Given the description of an element on the screen output the (x, y) to click on. 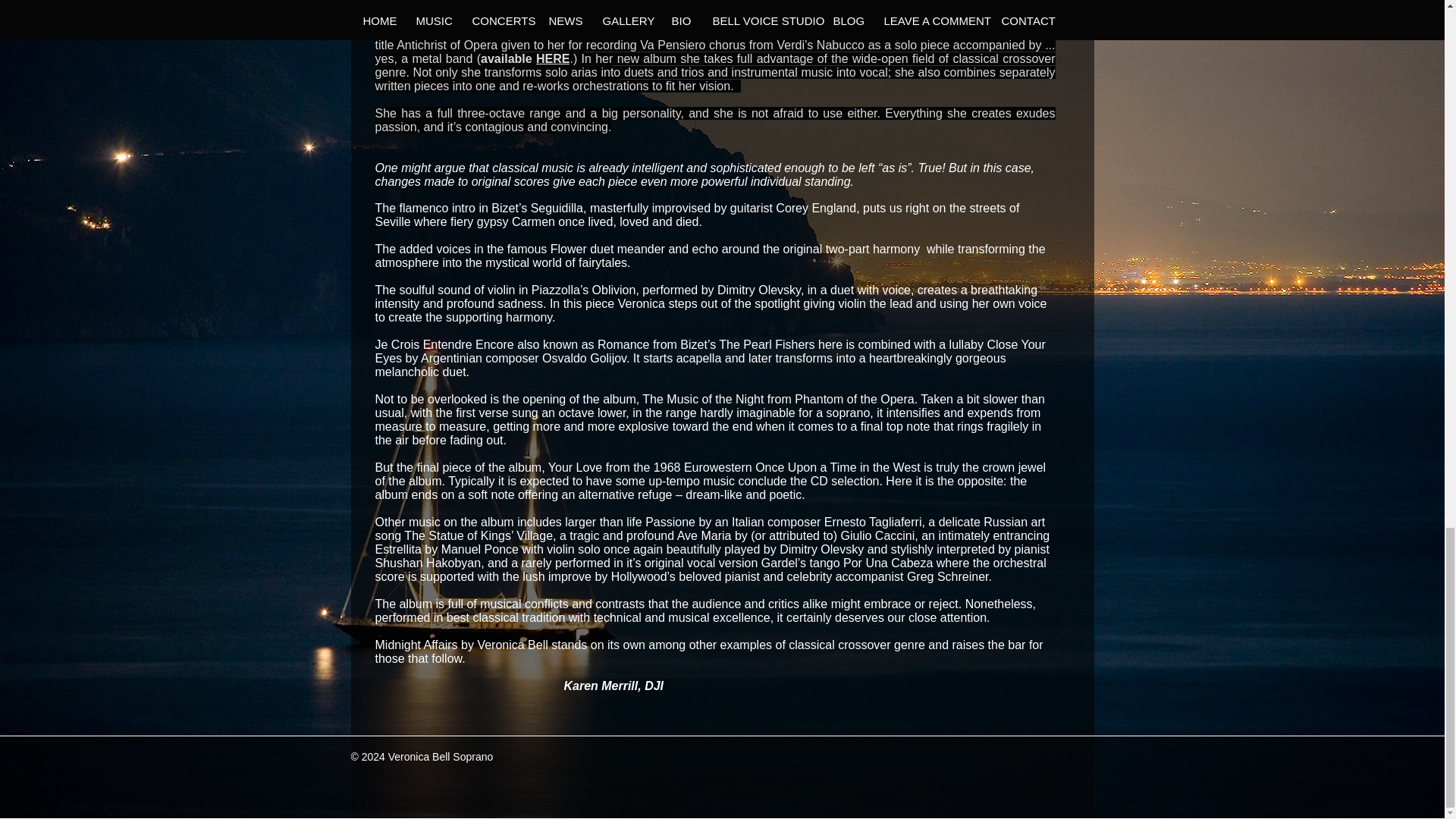
HERE (552, 58)
